Given the description of an element on the screen output the (x, y) to click on. 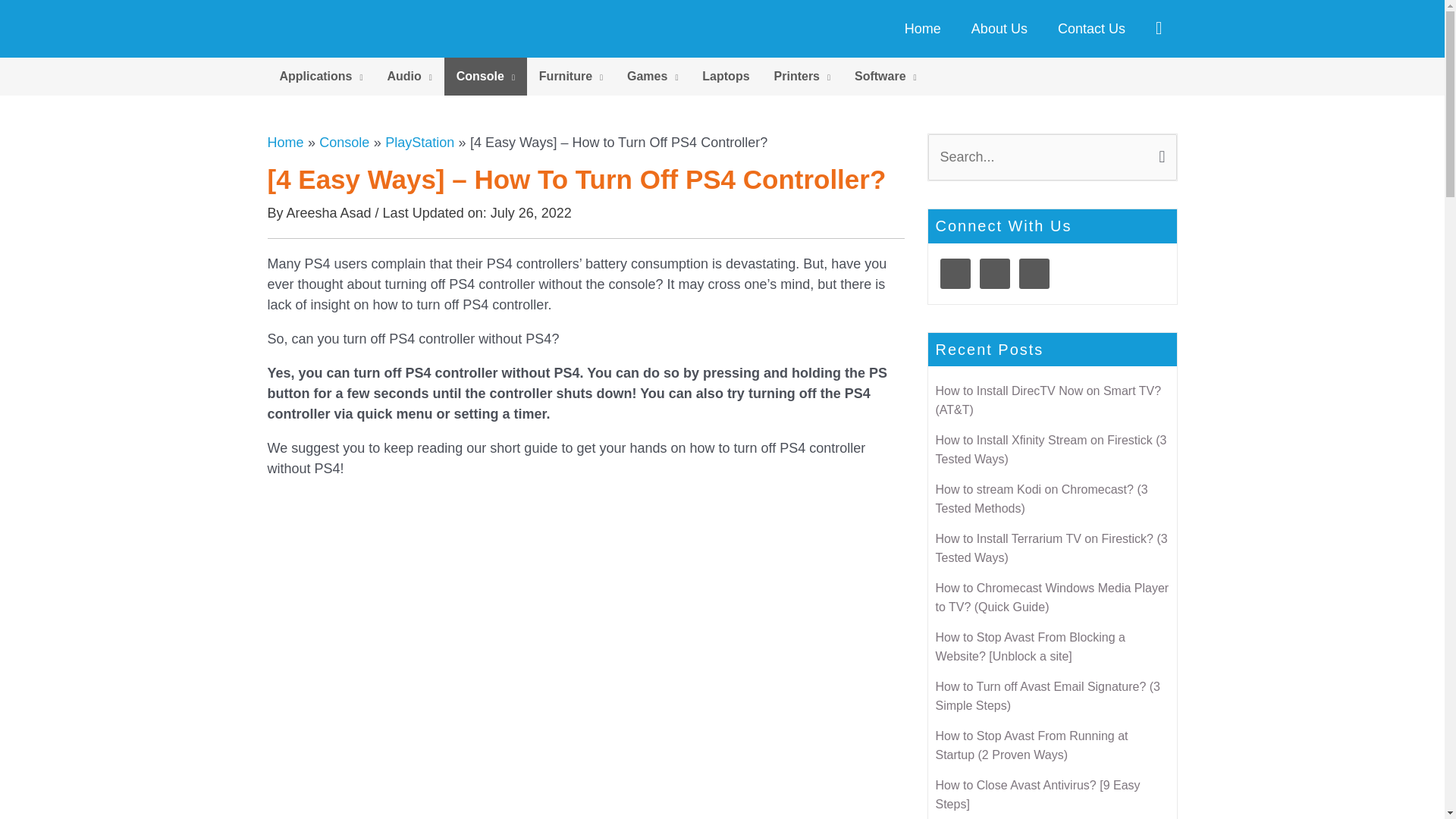
Search (1158, 150)
About Us (999, 28)
Home (922, 28)
View all posts by Areesha Asad (330, 212)
Search (1158, 150)
Contact Us (1091, 28)
